Given the description of an element on the screen output the (x, y) to click on. 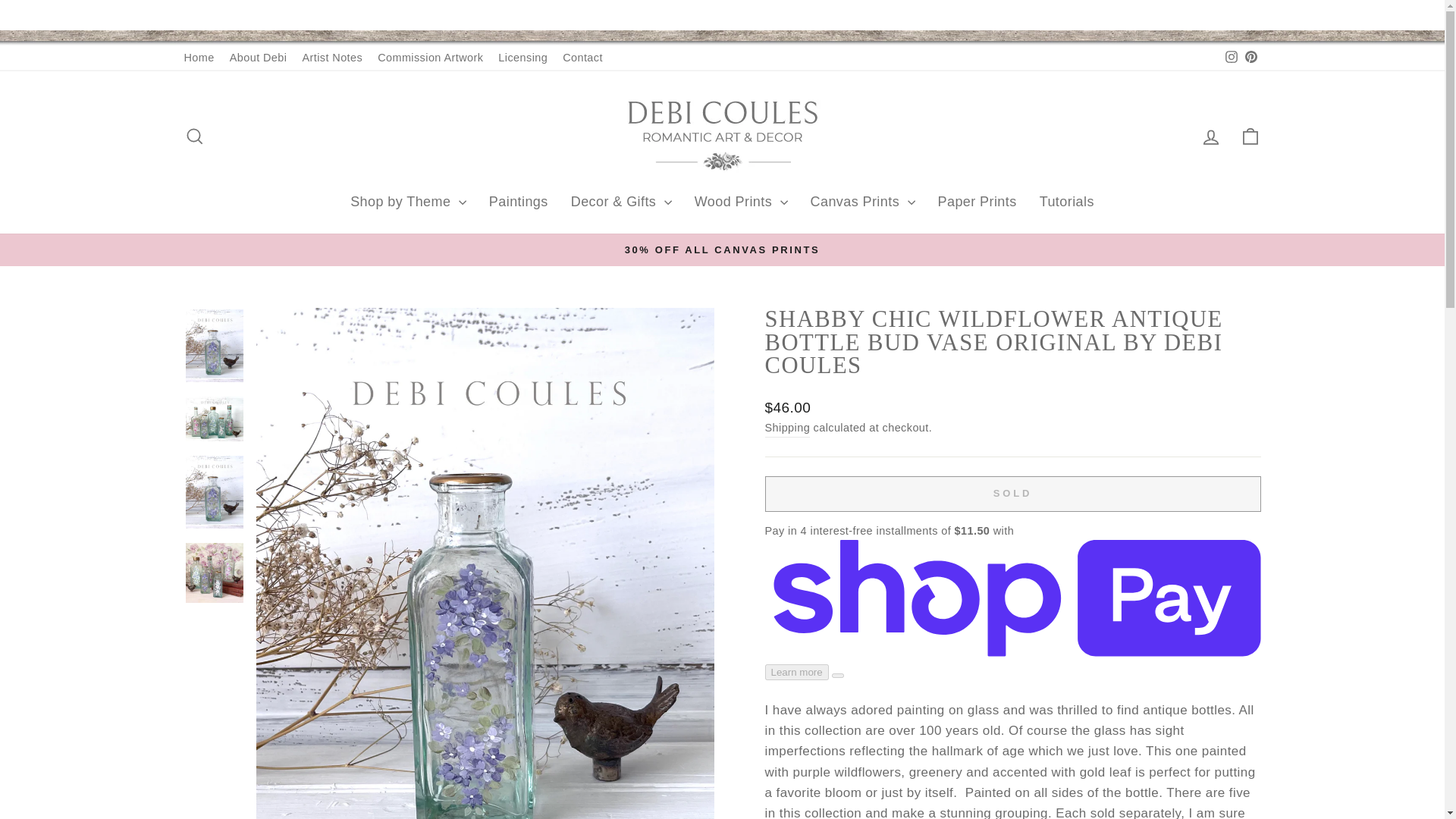
account (1210, 137)
icon-search (194, 136)
instagram (1231, 56)
icon-bag-minimal (1249, 136)
